Given the description of an element on the screen output the (x, y) to click on. 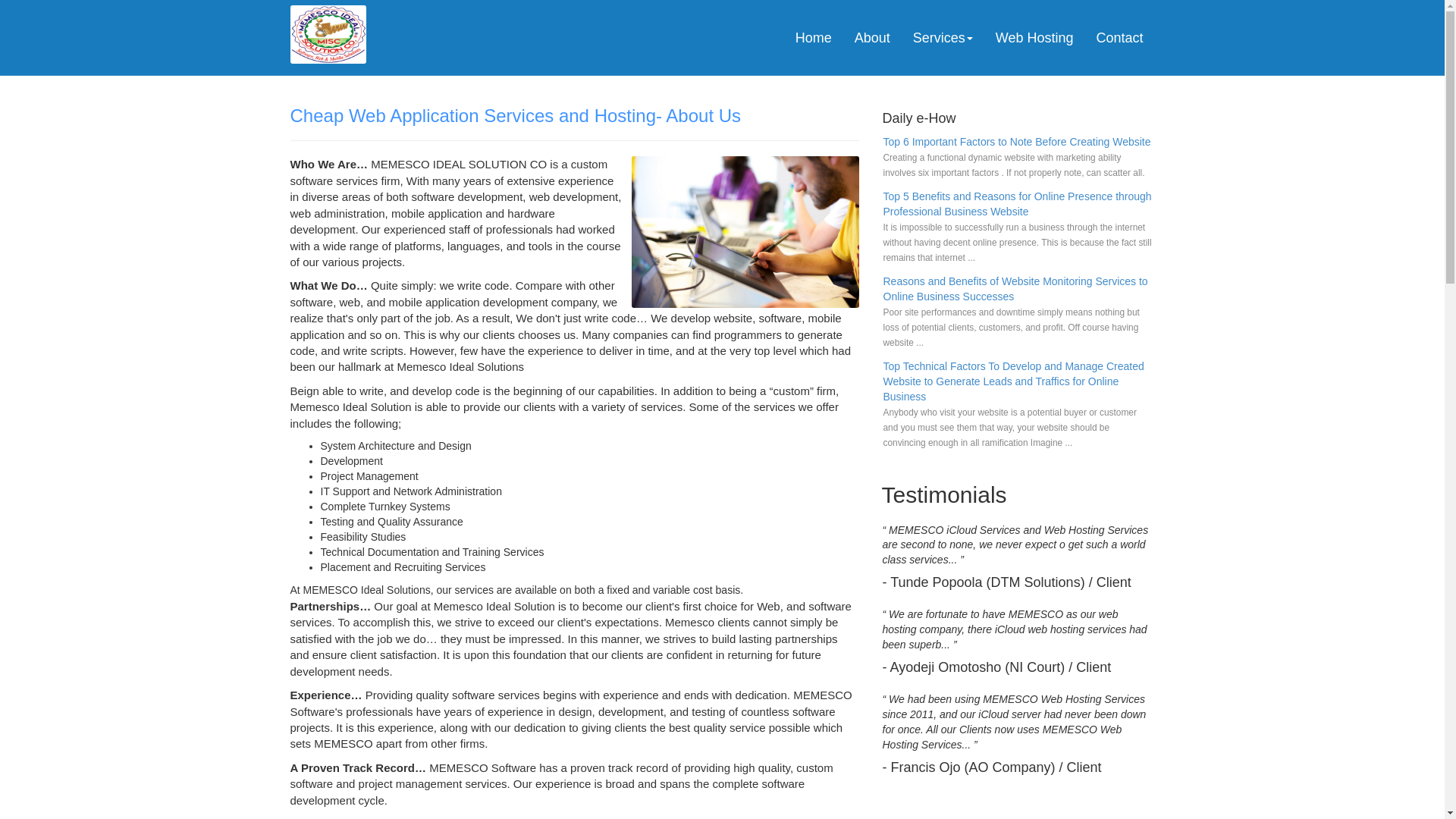
Web Hosting (1034, 37)
About (872, 37)
Top 6 Important Factors to Note Before Creating Website (1016, 141)
Services (942, 37)
Contact (1119, 37)
Home (813, 37)
